Given the description of an element on the screen output the (x, y) to click on. 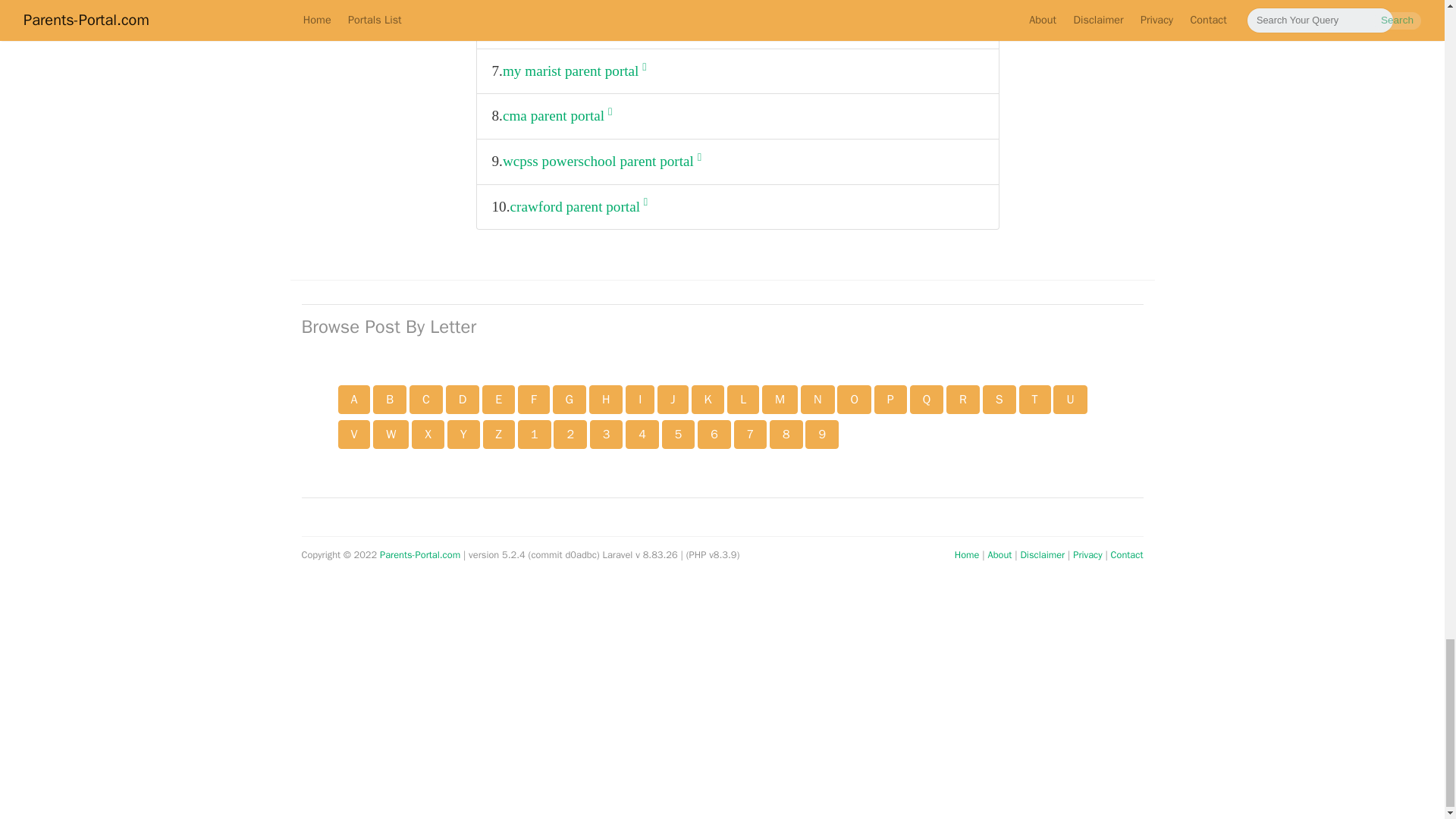
H (606, 399)
cma parent portal (556, 116)
crawford parent portal (578, 206)
wcpss powerschool parent portal (601, 161)
A (354, 399)
R (962, 399)
parent portal retsd (558, 26)
O (853, 399)
Q (926, 399)
parent portal retsd (558, 26)
C (425, 399)
my marist parent portal (574, 71)
T (1035, 399)
F (534, 399)
M (779, 399)
